Given the description of an element on the screen output the (x, y) to click on. 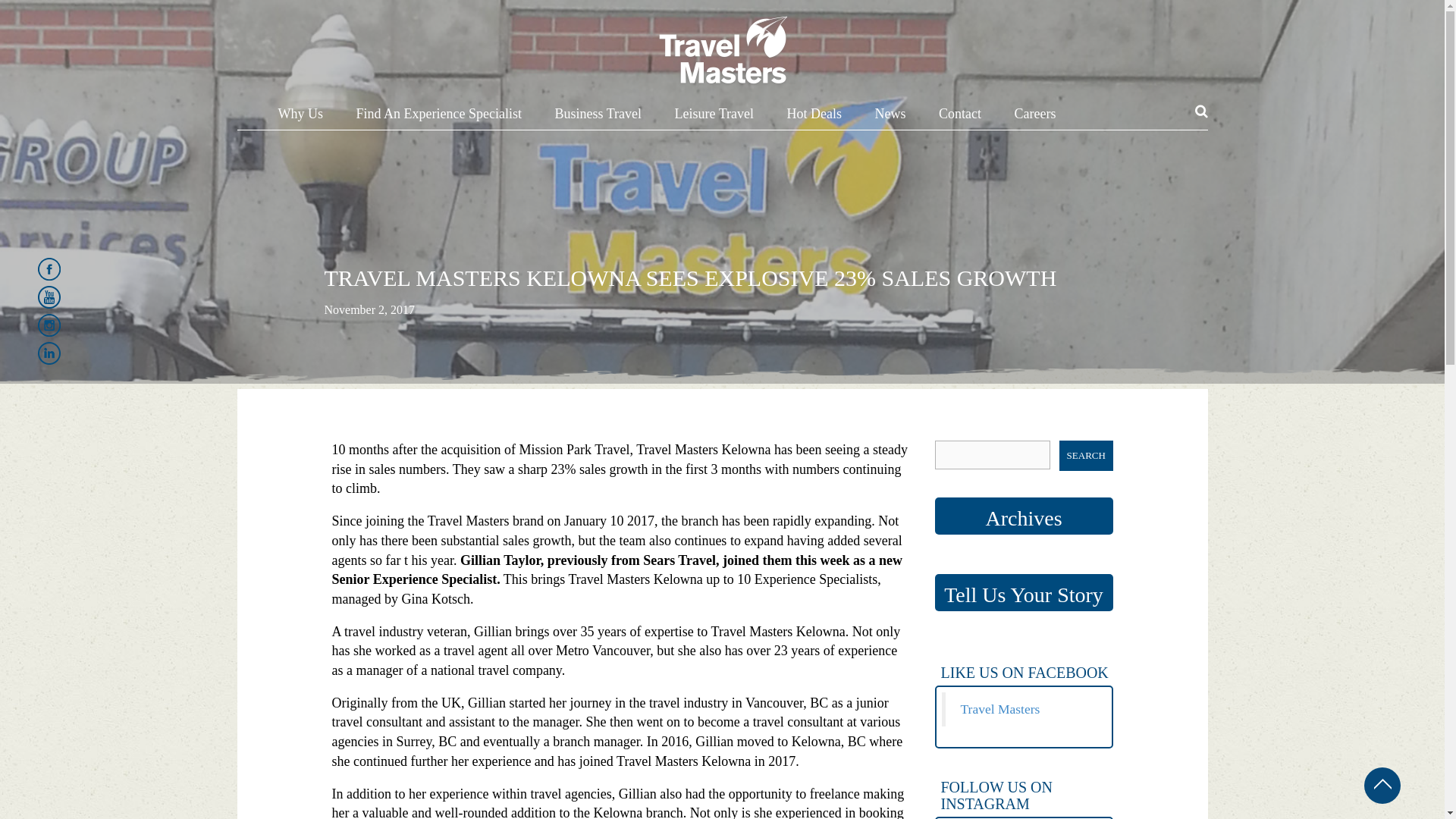
Leisure Travel (714, 117)
search (1086, 455)
Business Travel (598, 117)
Contact (960, 117)
search (1086, 455)
Archives (1023, 515)
Find An Experience Specialist (438, 117)
Careers (1035, 117)
News (890, 117)
Hot Deals (814, 117)
